Given the description of an element on the screen output the (x, y) to click on. 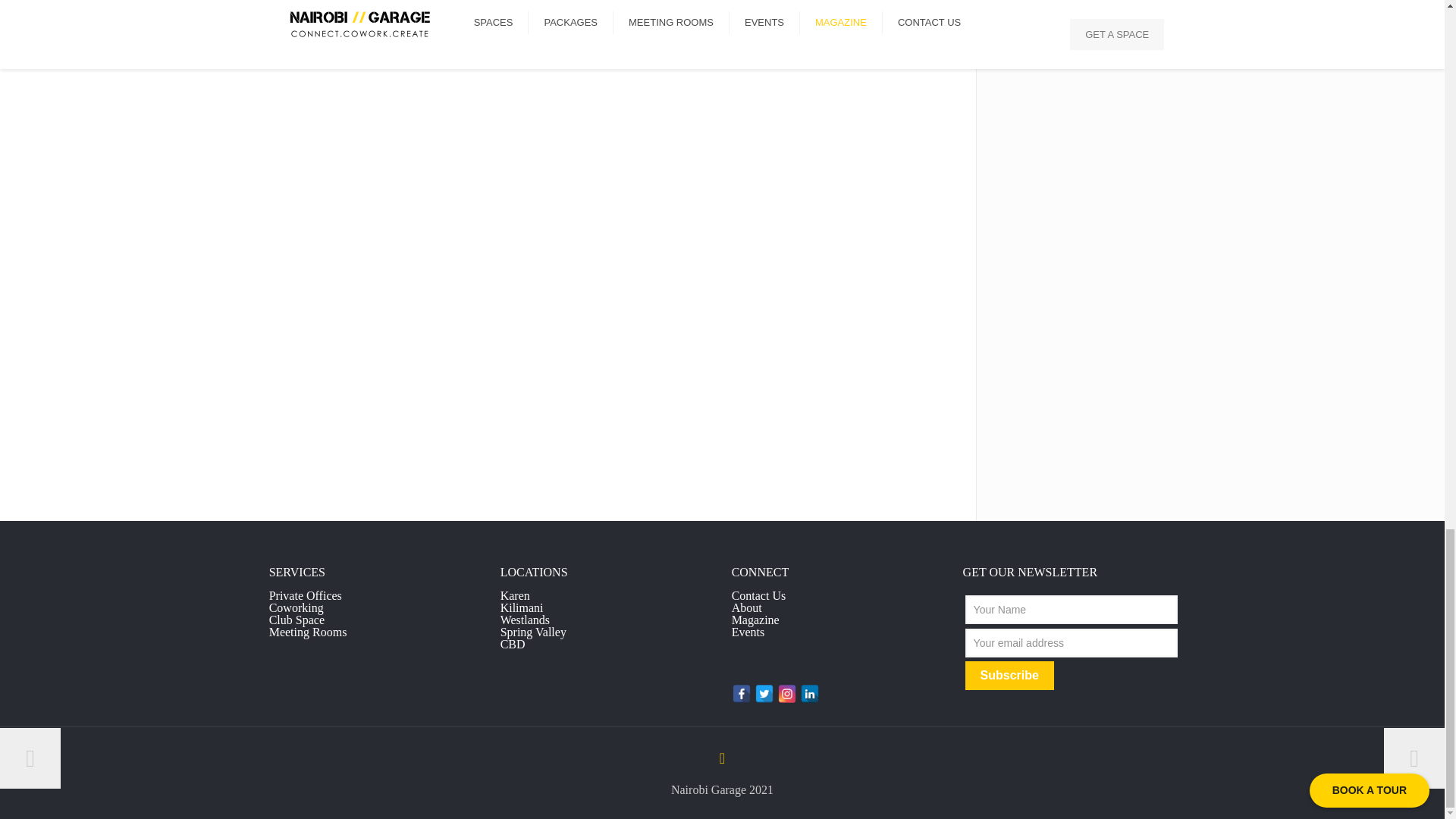
Twitter (764, 693)
Subscribe (1009, 675)
Instagram (786, 693)
Facebook (741, 693)
LinkedIn (809, 693)
